Given the description of an element on the screen output the (x, y) to click on. 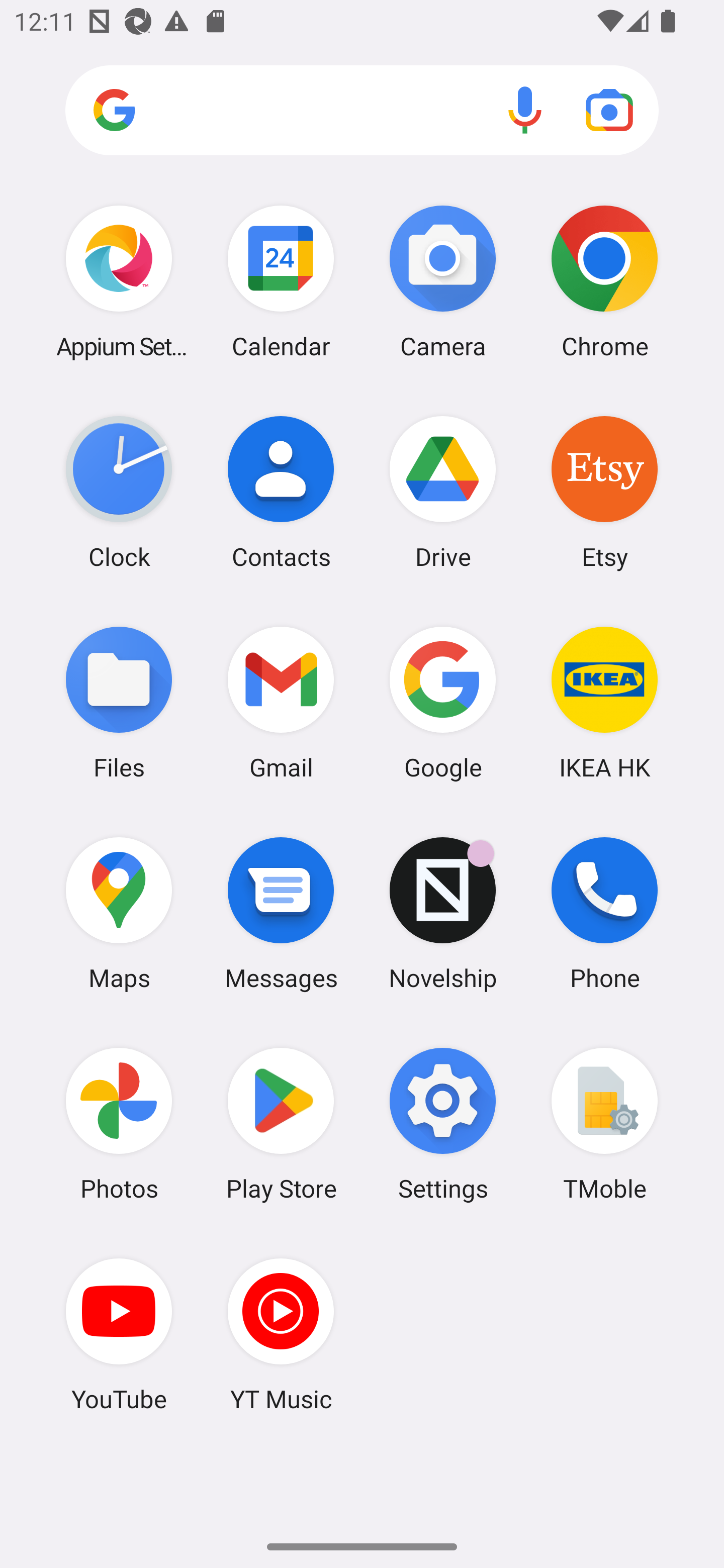
Search apps, web and more (361, 110)
Voice search (524, 109)
Google Lens (608, 109)
Appium Settings (118, 281)
Calendar (280, 281)
Camera (443, 281)
Chrome (604, 281)
Clock (118, 492)
Contacts (280, 492)
Drive (443, 492)
Etsy (604, 492)
Files (118, 702)
Gmail (280, 702)
Google (443, 702)
IKEA HK (604, 702)
Maps (118, 913)
Messages (280, 913)
Novelship Novelship has 6 notifications (443, 913)
Phone (604, 913)
Photos (118, 1124)
Play Store (280, 1124)
Settings (443, 1124)
TMoble (604, 1124)
YouTube (118, 1334)
YT Music (280, 1334)
